Given the description of an element on the screen output the (x, y) to click on. 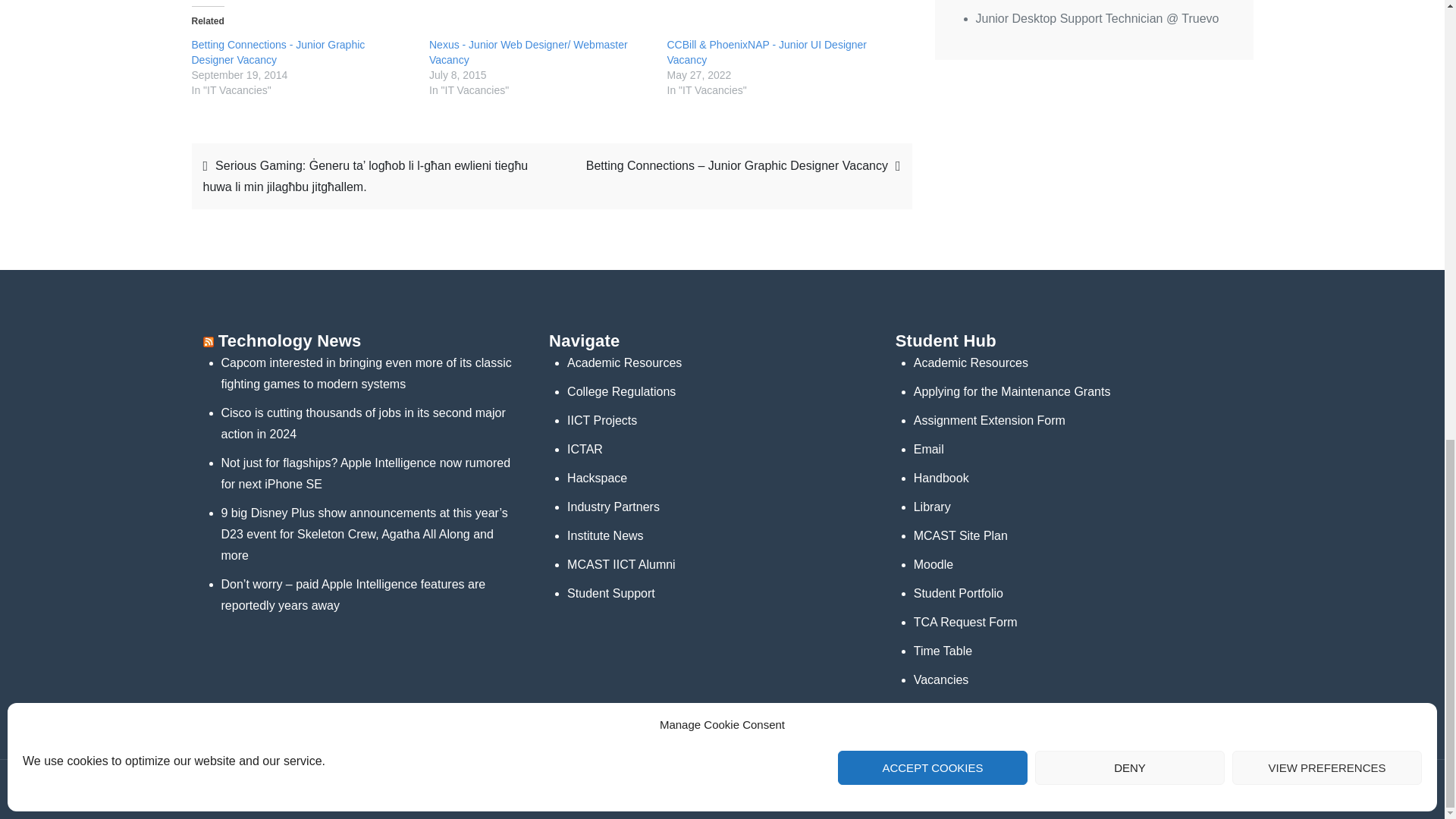
Industry Partners (613, 506)
College Regulations (621, 391)
Institute News (605, 535)
Betting Connections - Junior Graphic Designer Vacancy (277, 52)
